Given the description of an element on the screen output the (x, y) to click on. 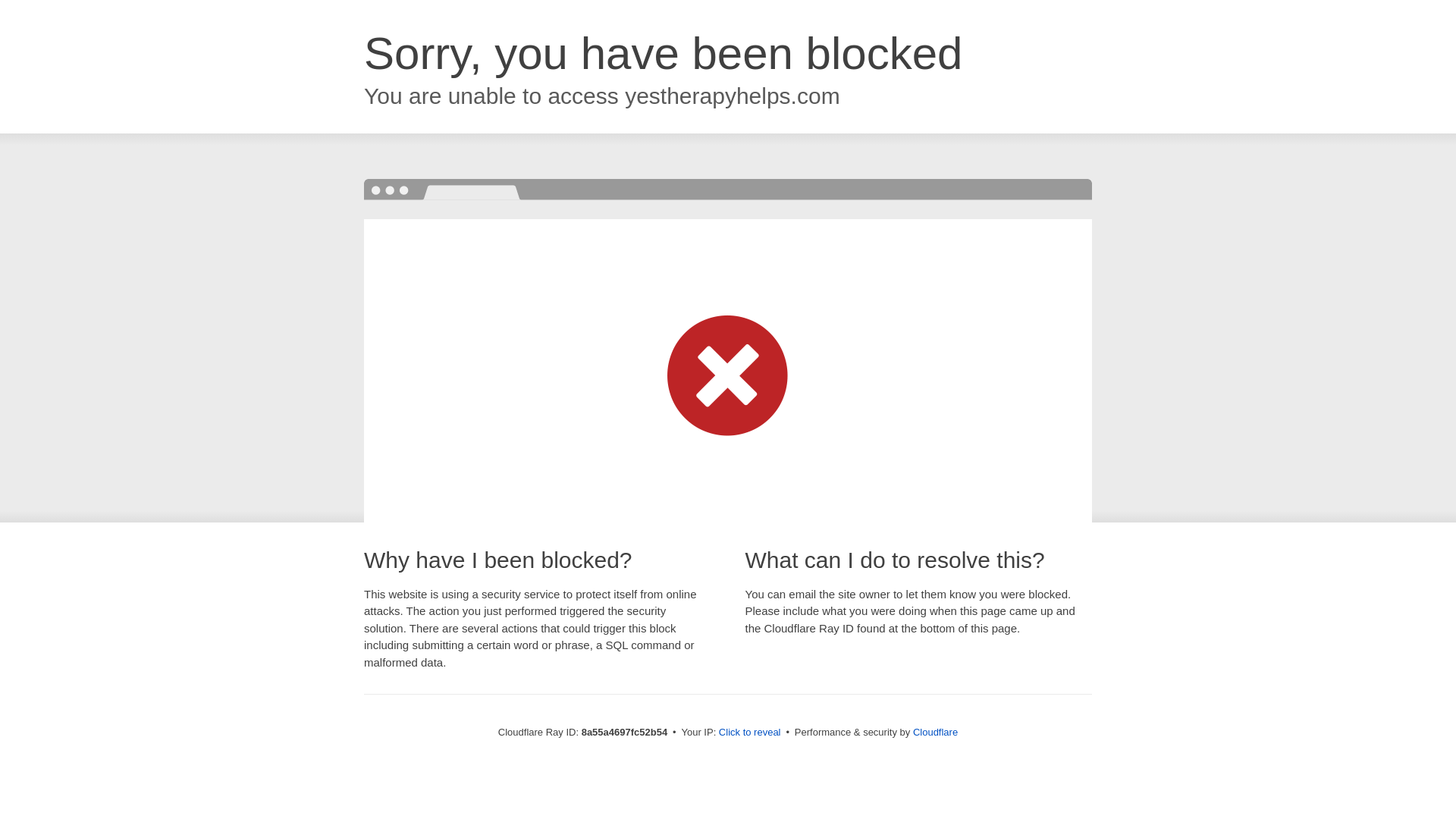
Click to reveal (749, 732)
Cloudflare (935, 731)
